Given the description of an element on the screen output the (x, y) to click on. 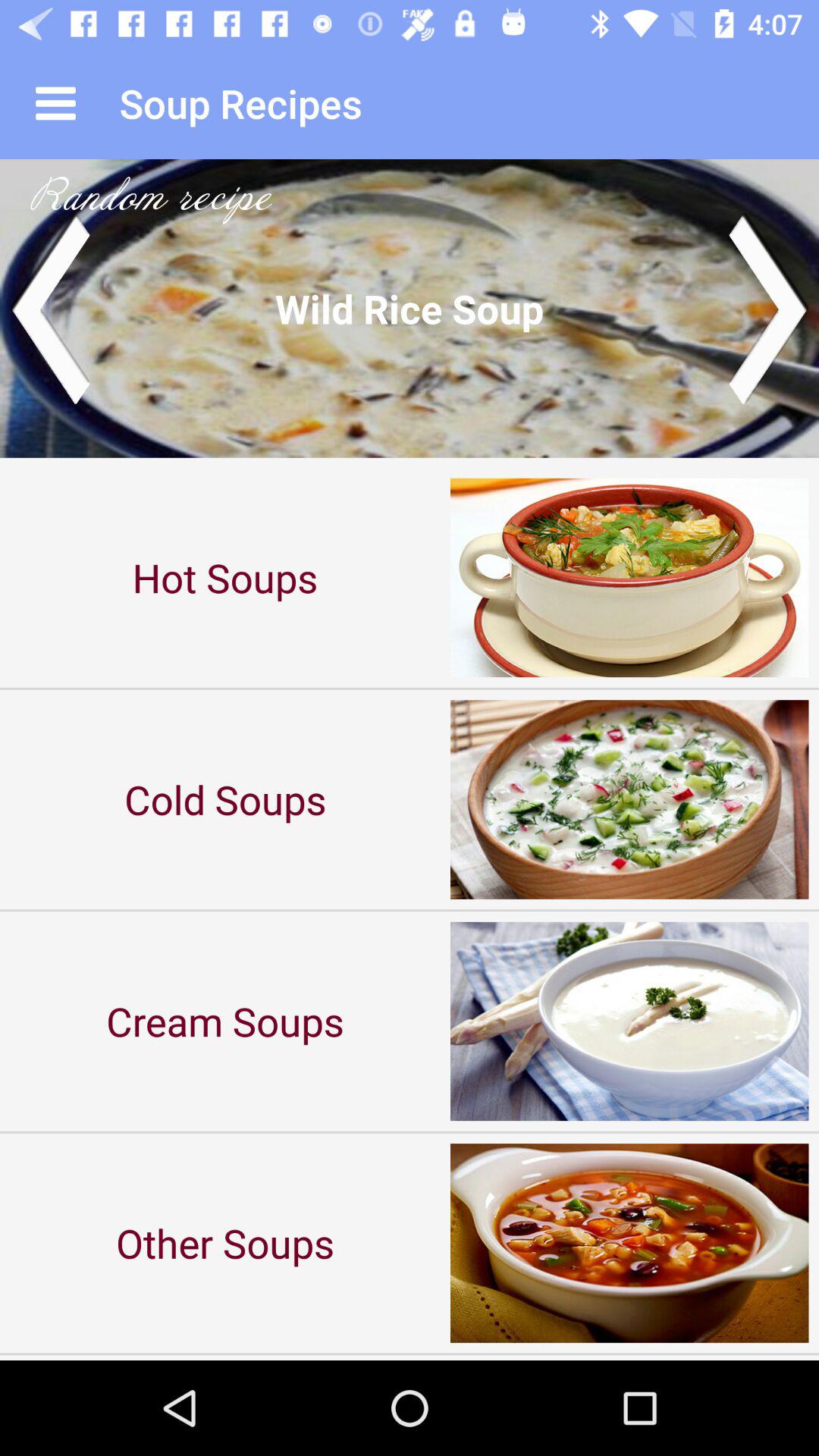
select cold soups icon (225, 798)
